Given the description of an element on the screen output the (x, y) to click on. 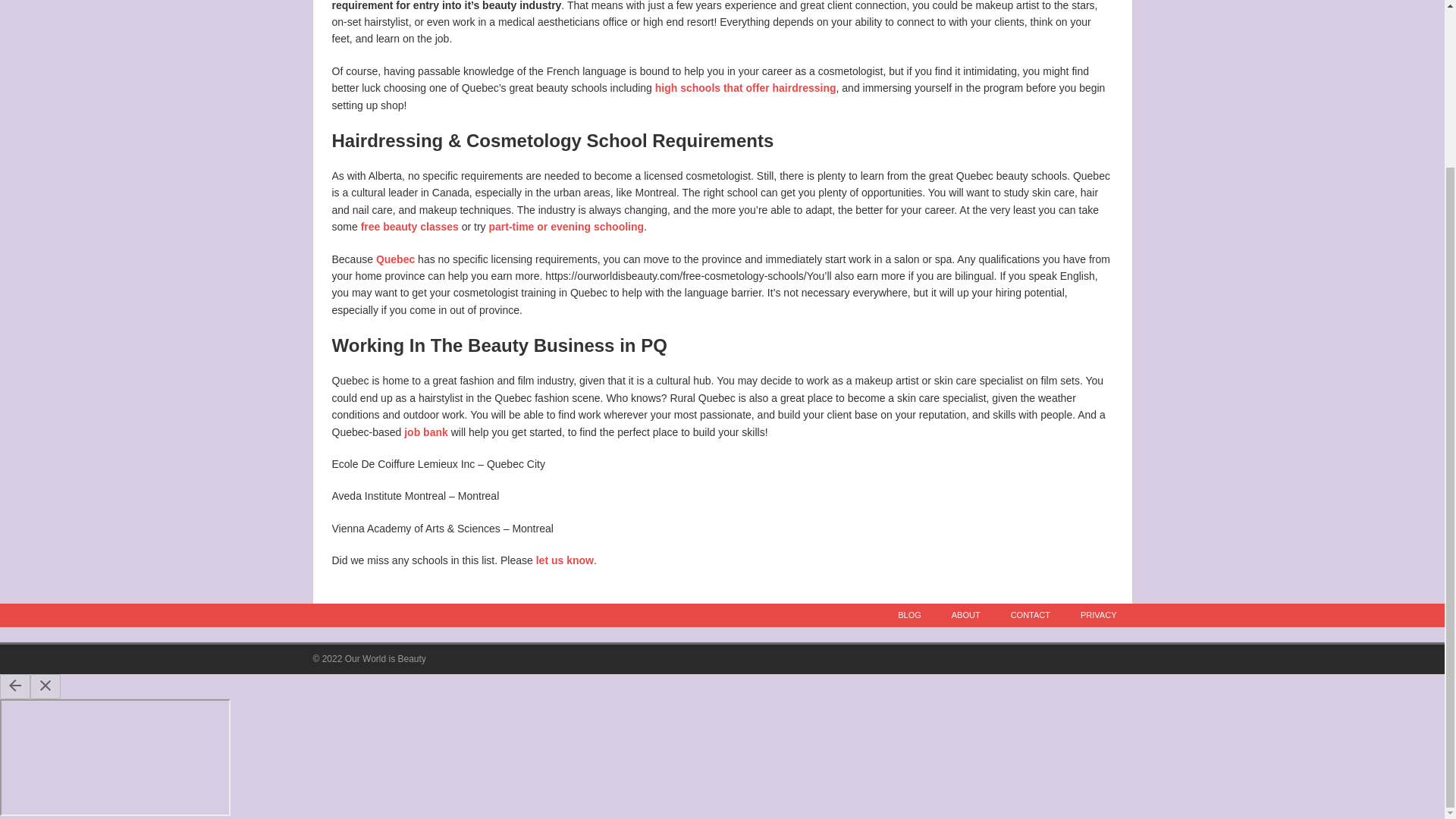
high schools that offer hairdressing (745, 87)
part-time or evening schooling (565, 226)
Quebec (394, 259)
let us know (564, 560)
free beauty classes (409, 226)
job bank (426, 431)
